Given the description of an element on the screen output the (x, y) to click on. 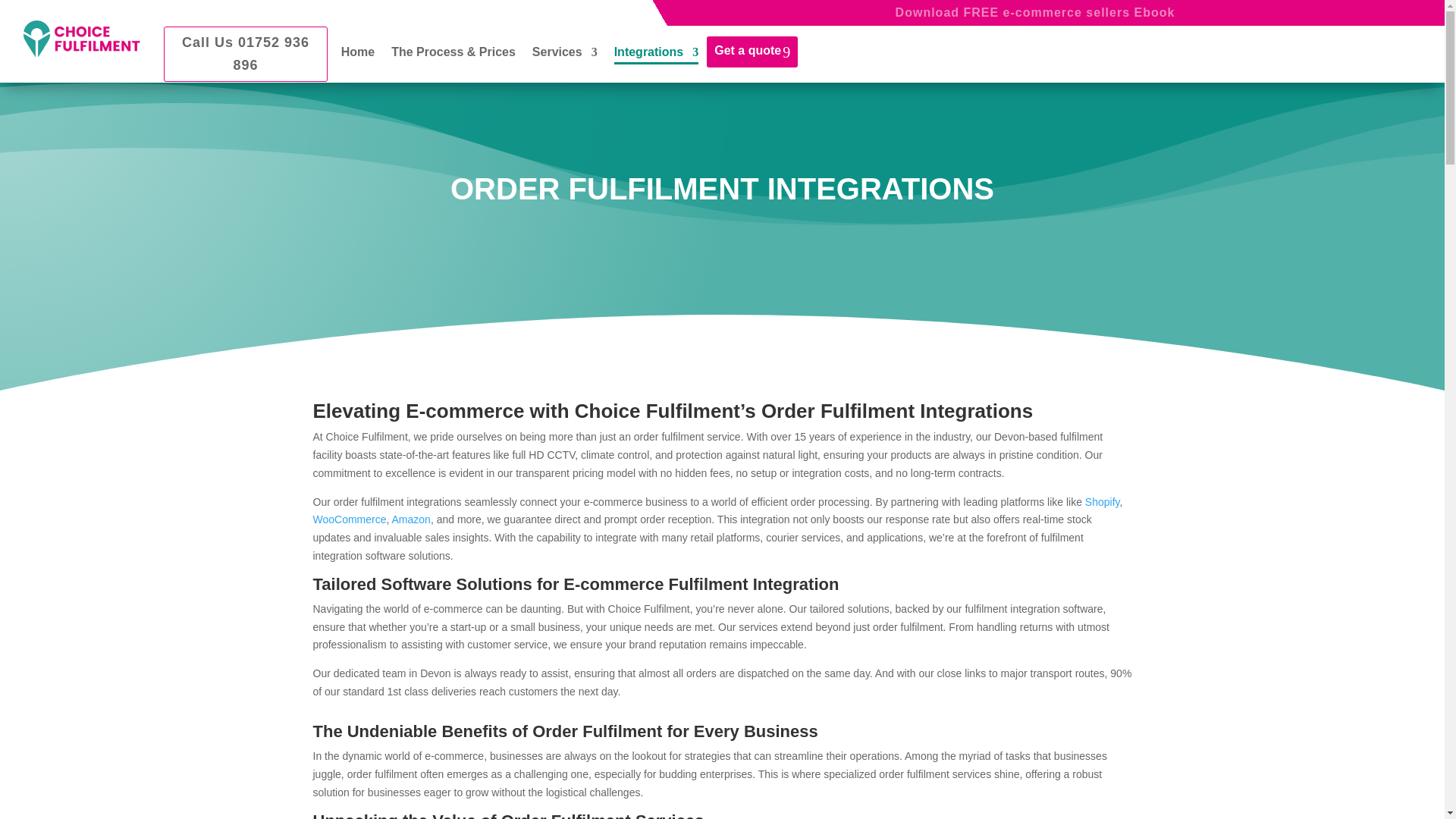
Services (564, 64)
choice-logo (81, 38)
Integrations (656, 64)
Call Us 01752 936 896 (245, 53)
Download FREE e-commerce sellers Ebook (1034, 11)
Home (357, 64)
